Given the description of an element on the screen output the (x, y) to click on. 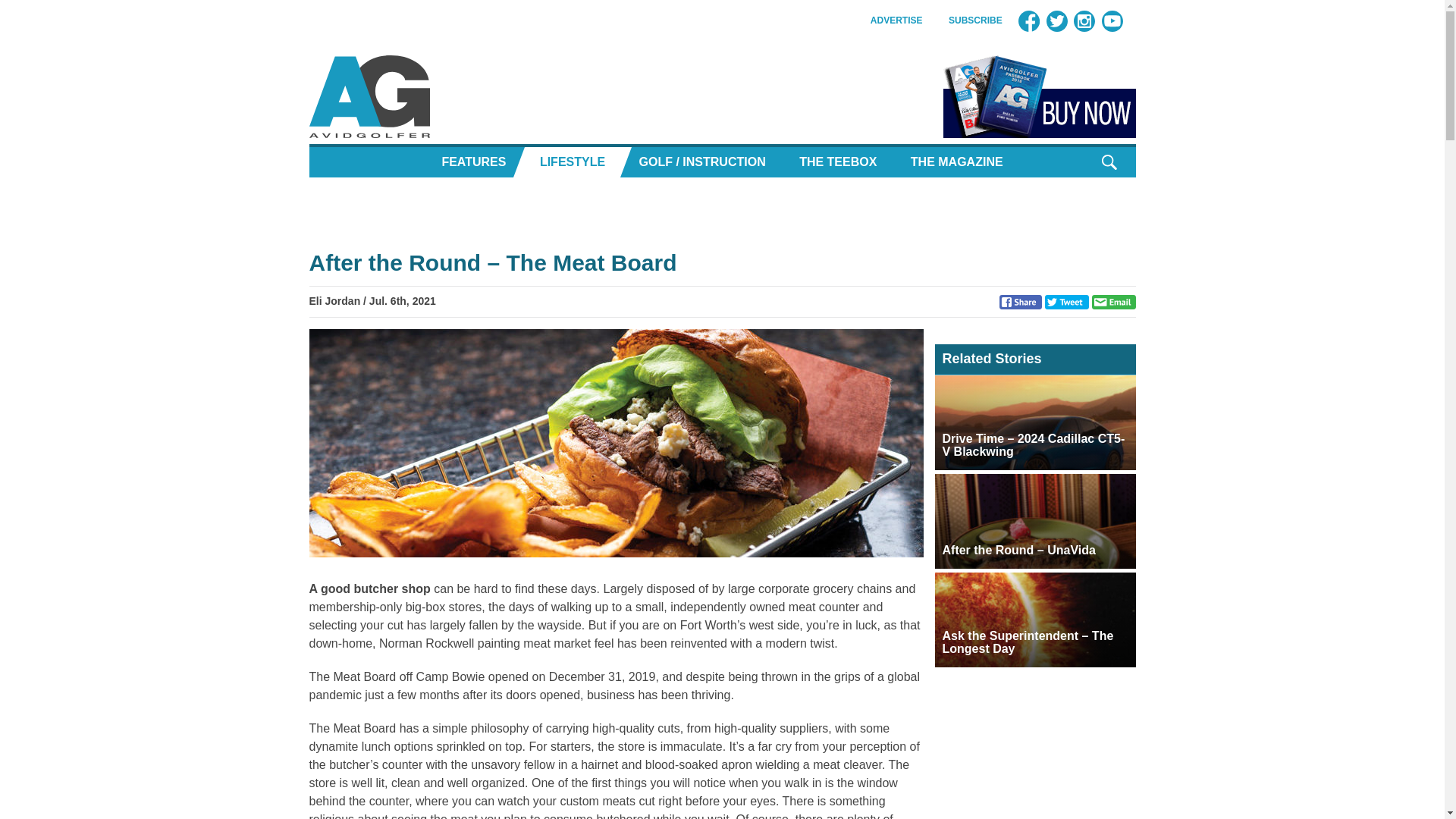
ADVERTISE (896, 20)
THE MAGAZINE (956, 162)
FEATURES (473, 162)
THE TEEBOX (837, 162)
Features (473, 162)
The TeeBox (837, 162)
Share on Twitter (1067, 301)
Lifestyle (572, 162)
Advertise (896, 20)
LIFESTYLE (572, 162)
SUBSCRIBE (975, 20)
Share with a friend (1113, 301)
Share on Facebook (1020, 301)
The Magazine (956, 162)
